Given the description of an element on the screen output the (x, y) to click on. 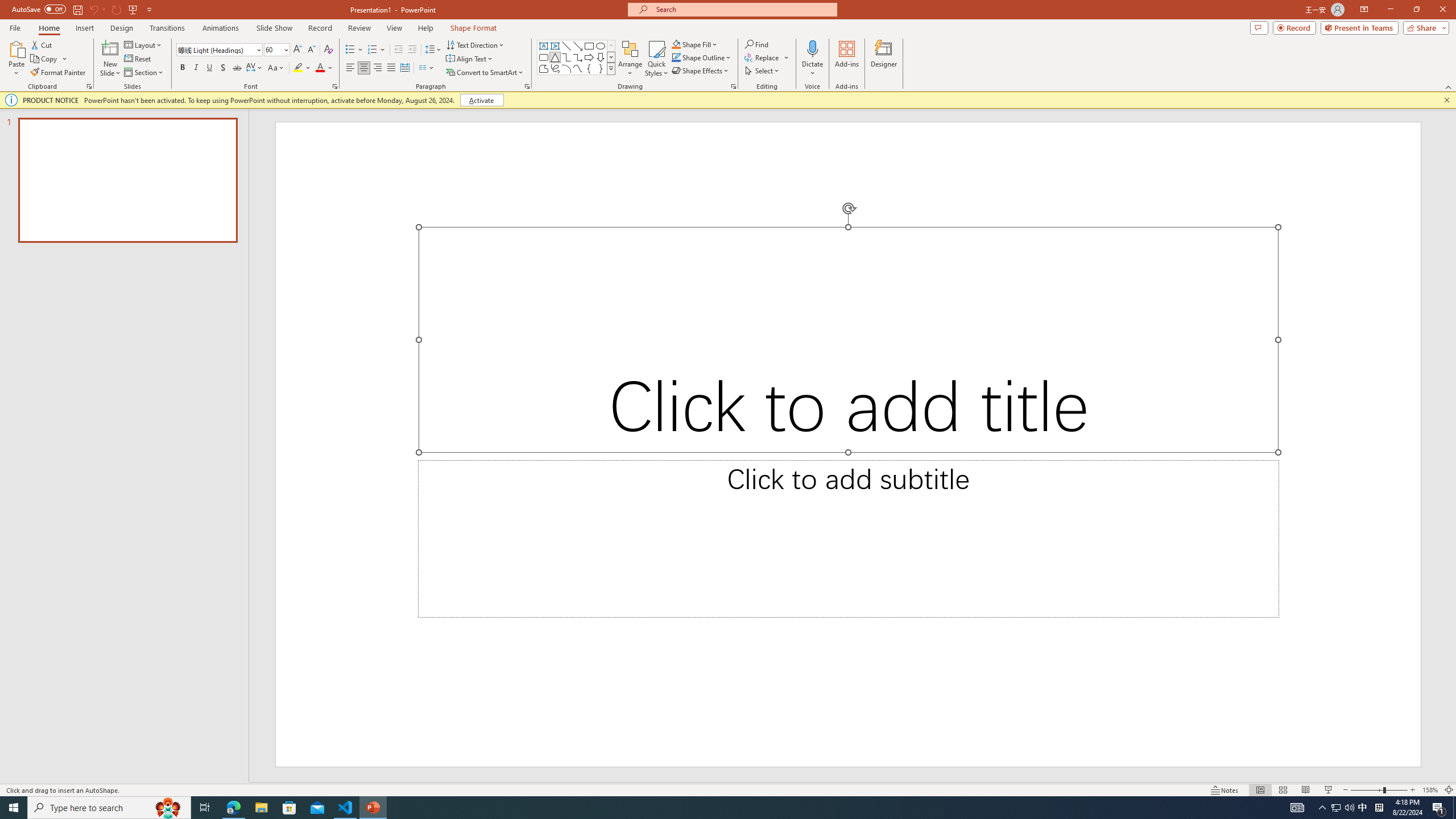
Shape Outline Dark Red, Accent 1 (675, 56)
Close this message (1446, 99)
